Given the description of an element on the screen output the (x, y) to click on. 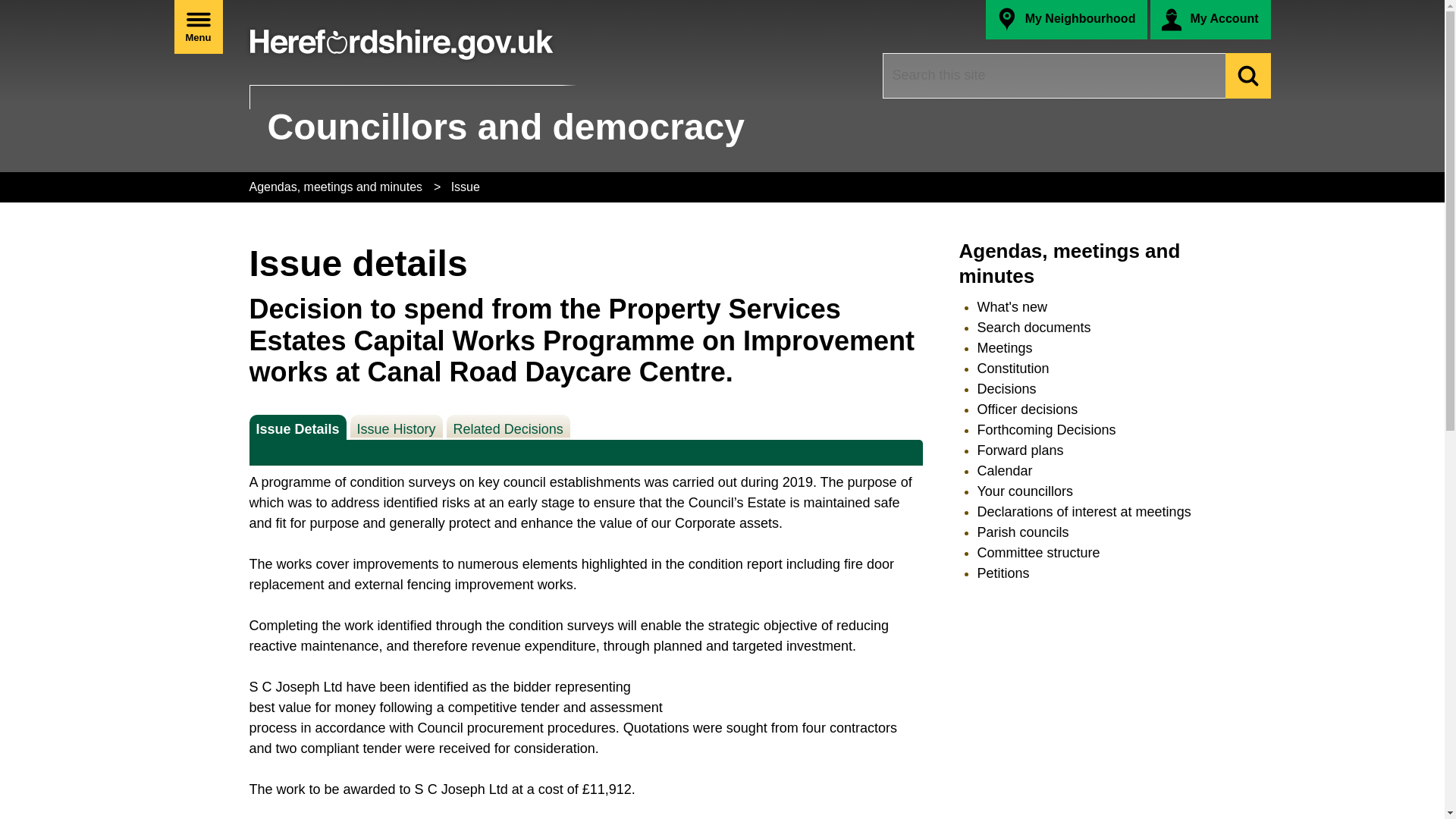
What's new (1011, 306)
Link to Petitions (1002, 572)
Committee structure (1037, 552)
Herefordshire (401, 37)
Link to calendar of meetings (1004, 470)
Link to parish council details (1022, 531)
Constitution (1012, 368)
My Neighbourhood (1066, 19)
Agendas, meetings and minutes (1068, 263)
Link to register of decisions (1005, 388)
Decisions (198, 27)
Issue History (1005, 388)
Forward plans (396, 426)
My Account (1019, 450)
